Given the description of an element on the screen output the (x, y) to click on. 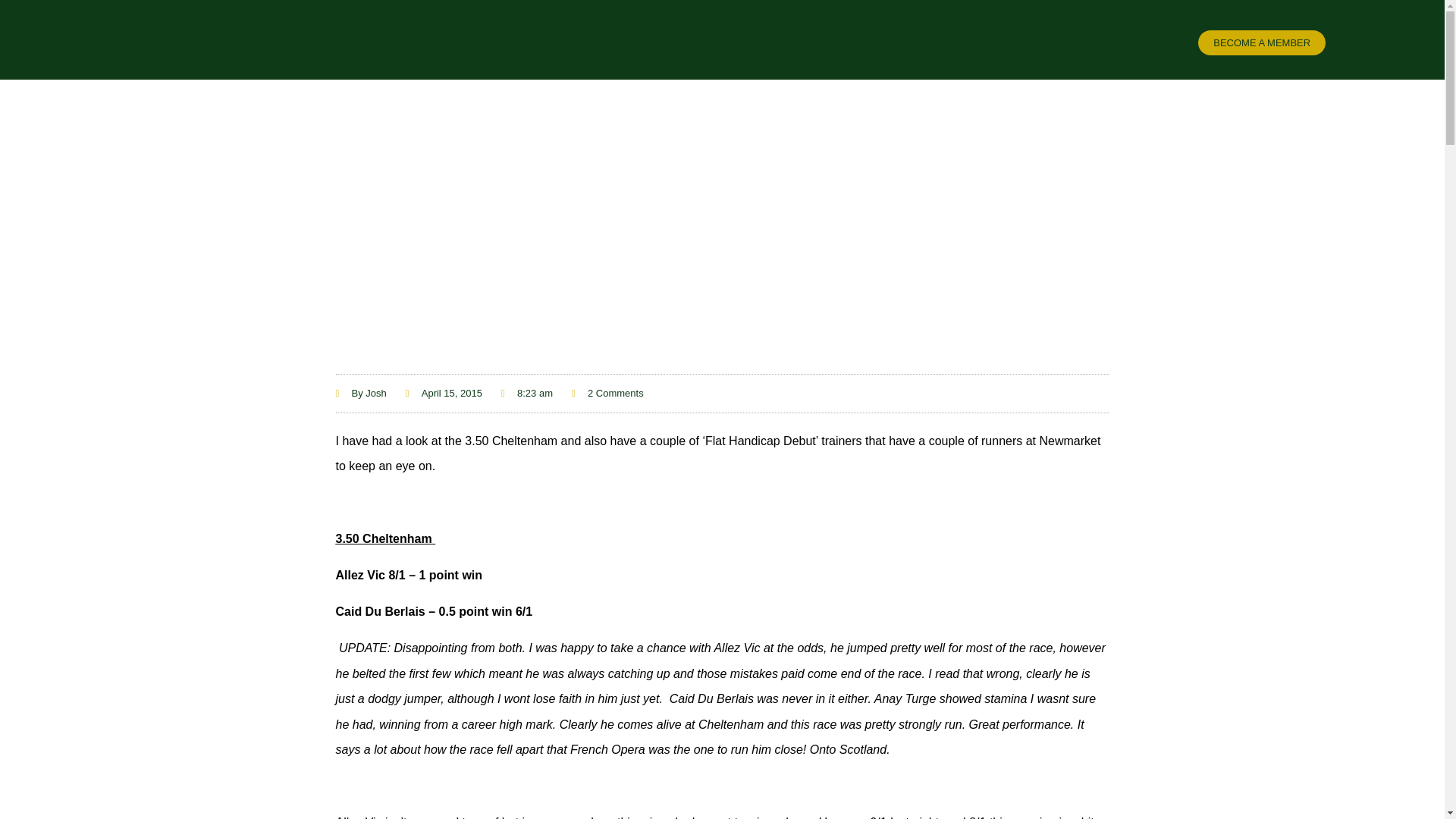
By Josh (359, 393)
2 Comments (607, 393)
BECOME A MEMBER (1261, 42)
April 15, 2015 (443, 393)
